Given the description of an element on the screen output the (x, y) to click on. 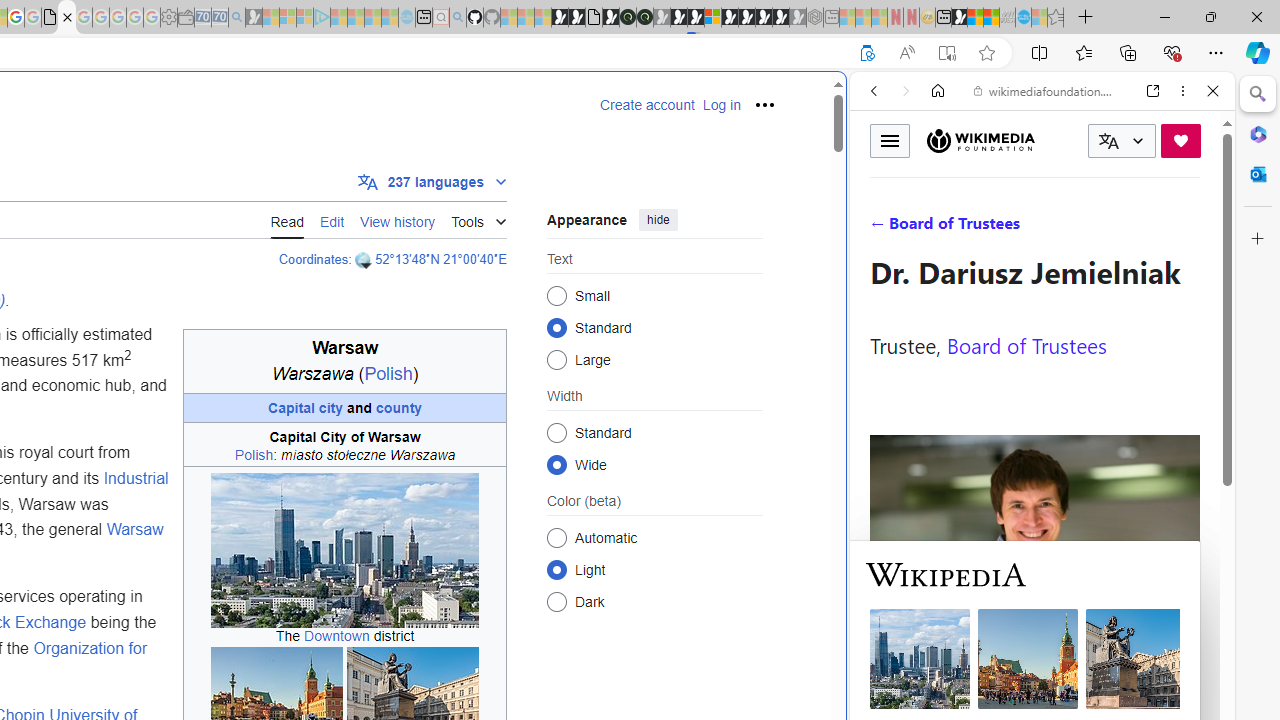
Edit (331, 219)
Class: i icon icon-translate language-switcher__icon (1108, 141)
Wiktionary (1034, 669)
Search or enter web address (343, 191)
